Given the description of an element on the screen output the (x, y) to click on. 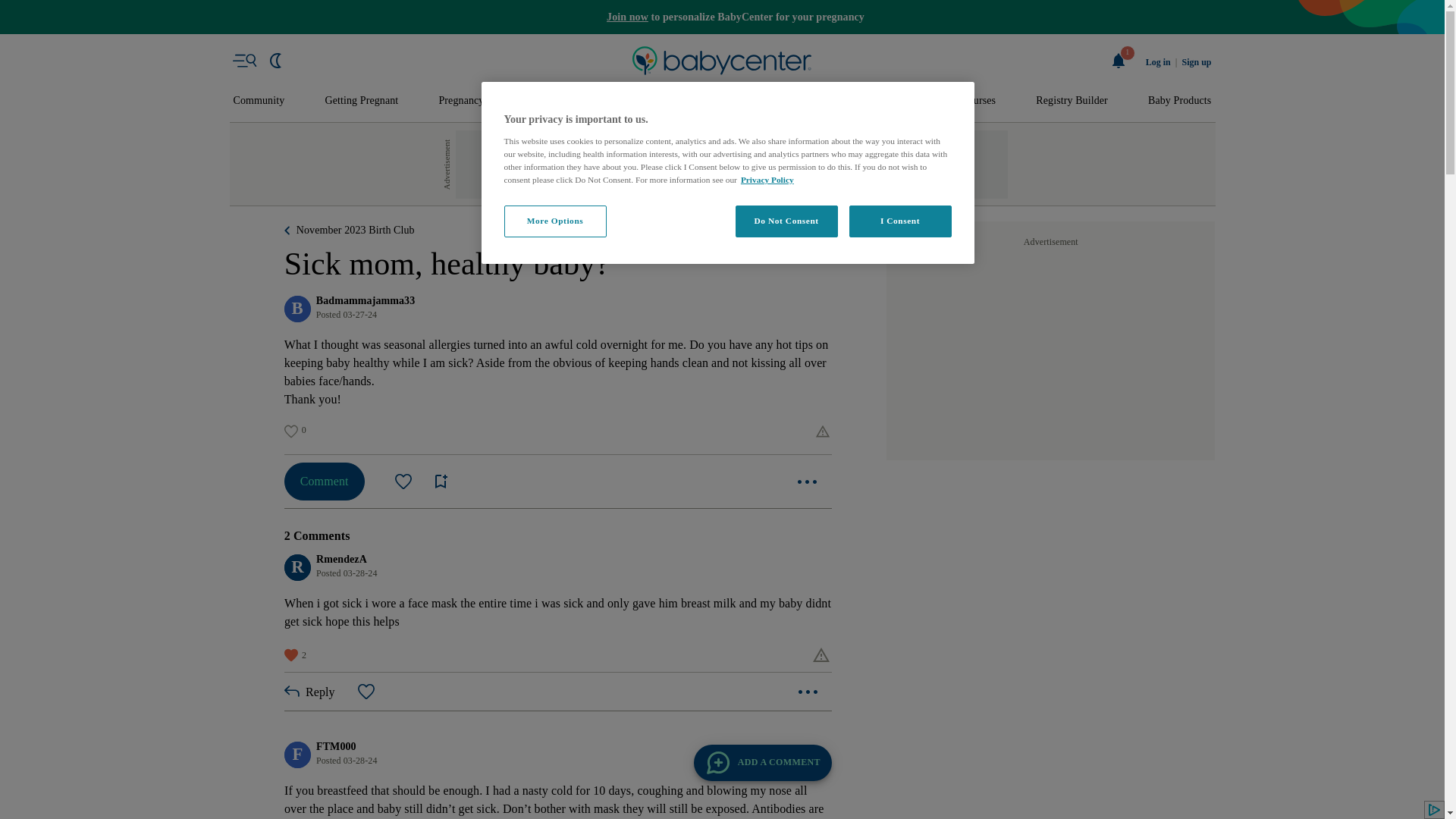
Child (768, 101)
Sign up (1195, 61)
Family (904, 101)
Community (258, 101)
Health (835, 101)
Baby (631, 101)
Toddler (699, 101)
Courses (977, 101)
Pregnancy (460, 101)
Log in (1157, 61)
Baby Products (1179, 101)
1 (1118, 60)
Getting Pregnant (360, 101)
Baby Names (551, 101)
Registry Builder (1071, 101)
